Given the description of an element on the screen output the (x, y) to click on. 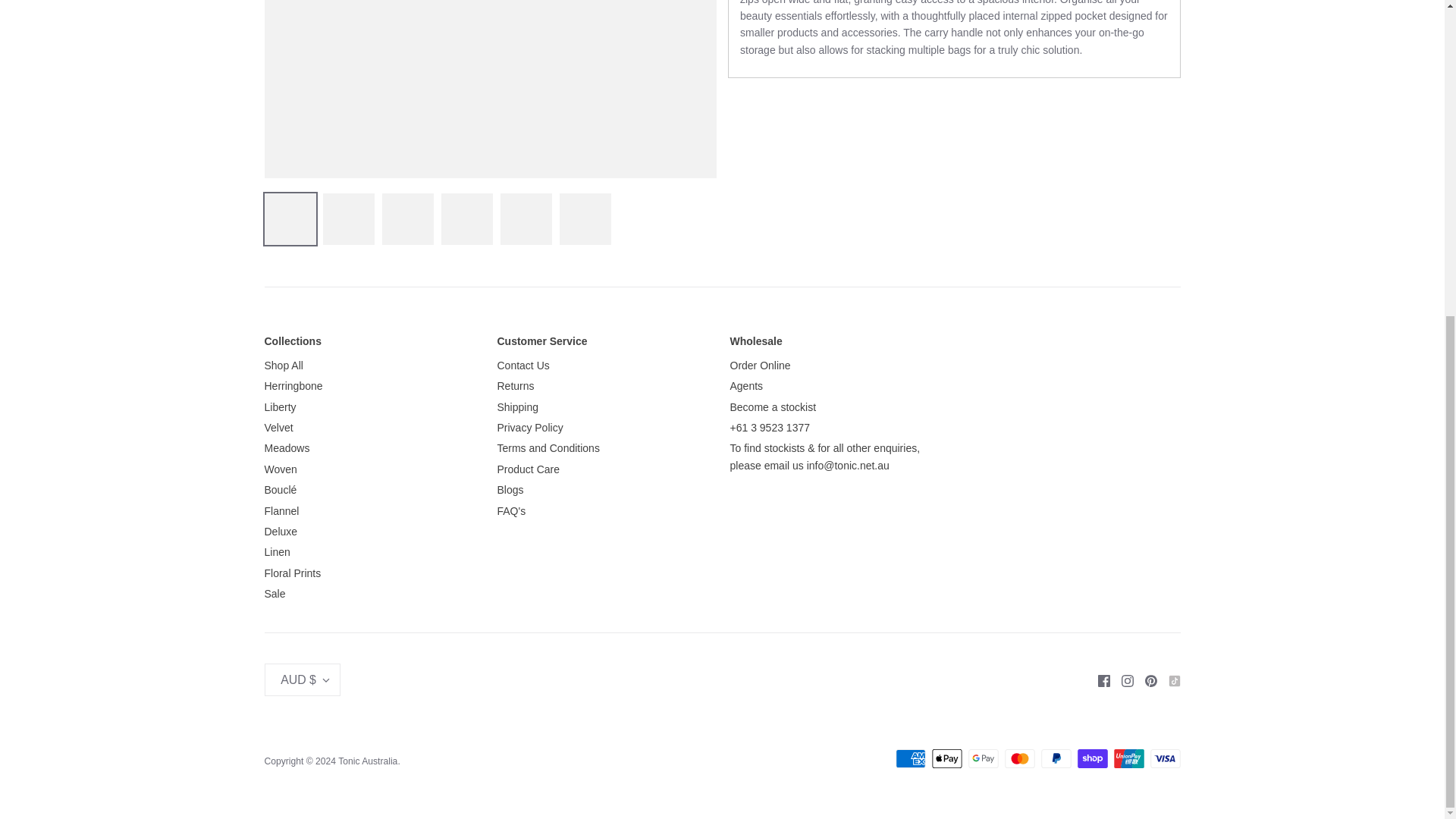
American Express (910, 758)
Mastercard (1019, 758)
Union Pay (1128, 758)
Shop Pay (1092, 758)
Visa (1164, 758)
Google Pay (983, 758)
Apple Pay (946, 758)
PayPal (1056, 758)
